Given the description of an element on the screen output the (x, y) to click on. 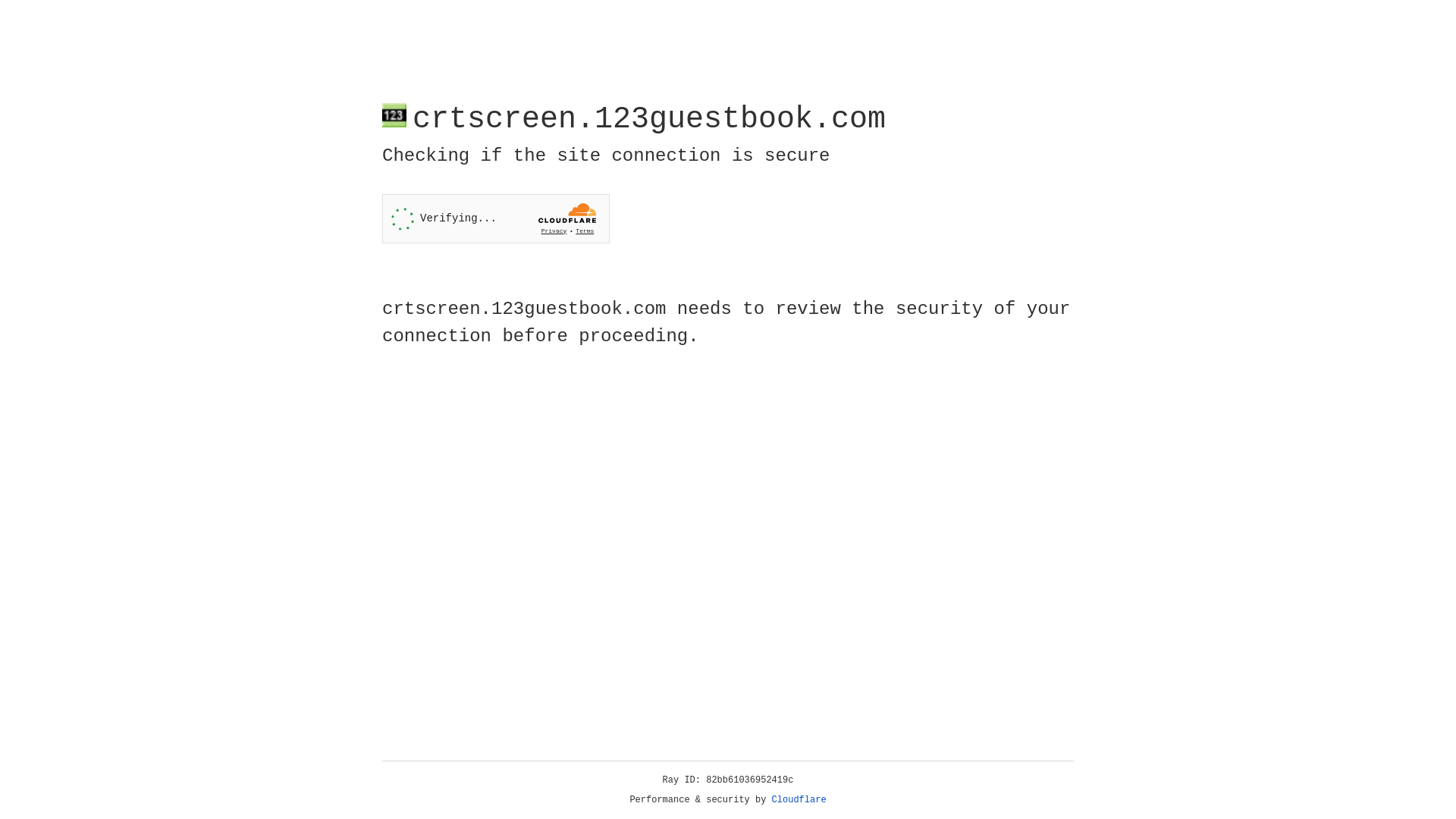
Cloudflare Element type: text (798, 799)
Widget containing a Cloudflare security challenge Element type: hover (495, 218)
